Given the description of an element on the screen output the (x, y) to click on. 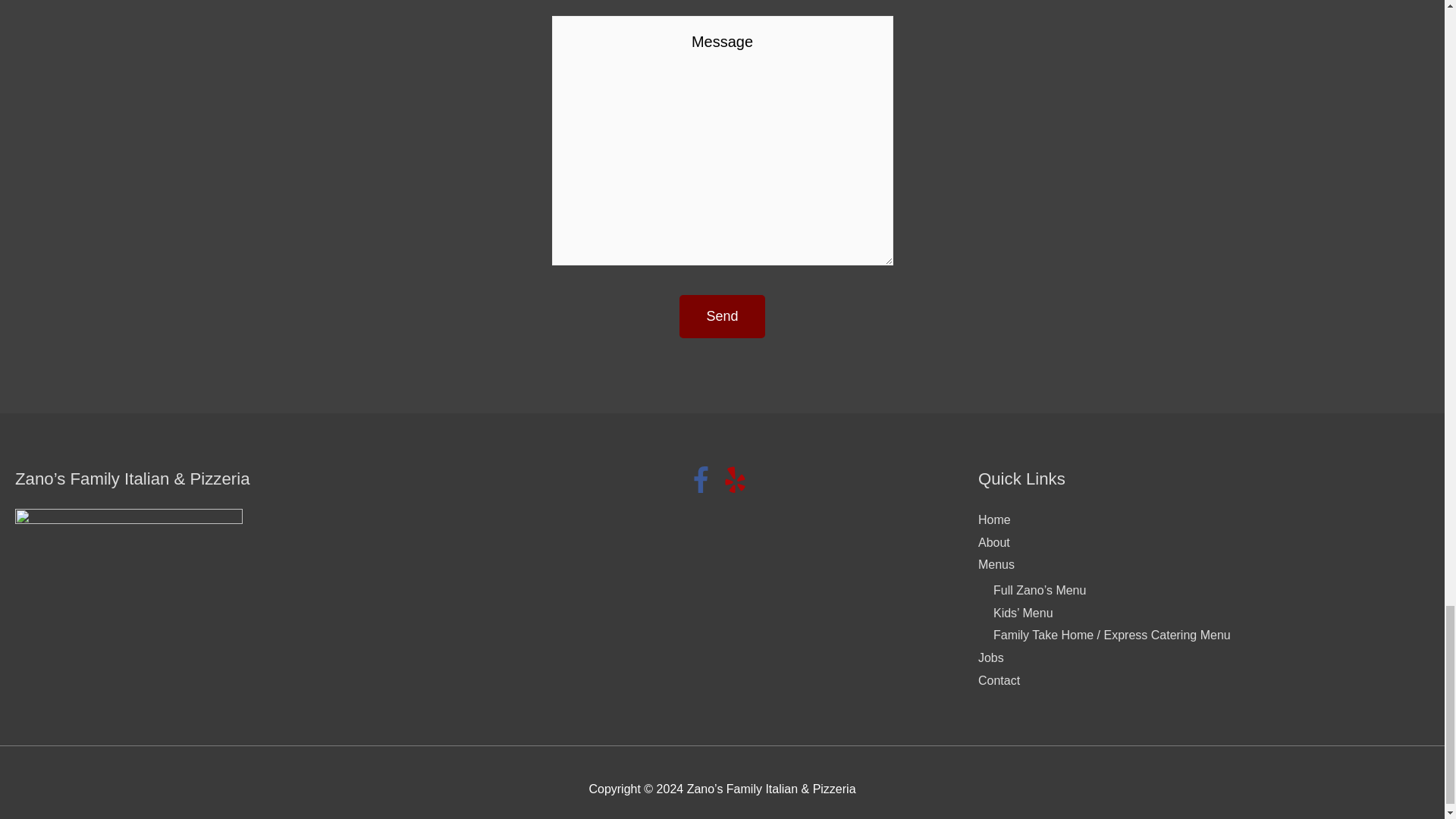
Home (994, 519)
About (994, 542)
Send (721, 316)
Send (721, 316)
Contact (999, 680)
Menus (996, 563)
Jobs (991, 657)
